Given the description of an element on the screen output the (x, y) to click on. 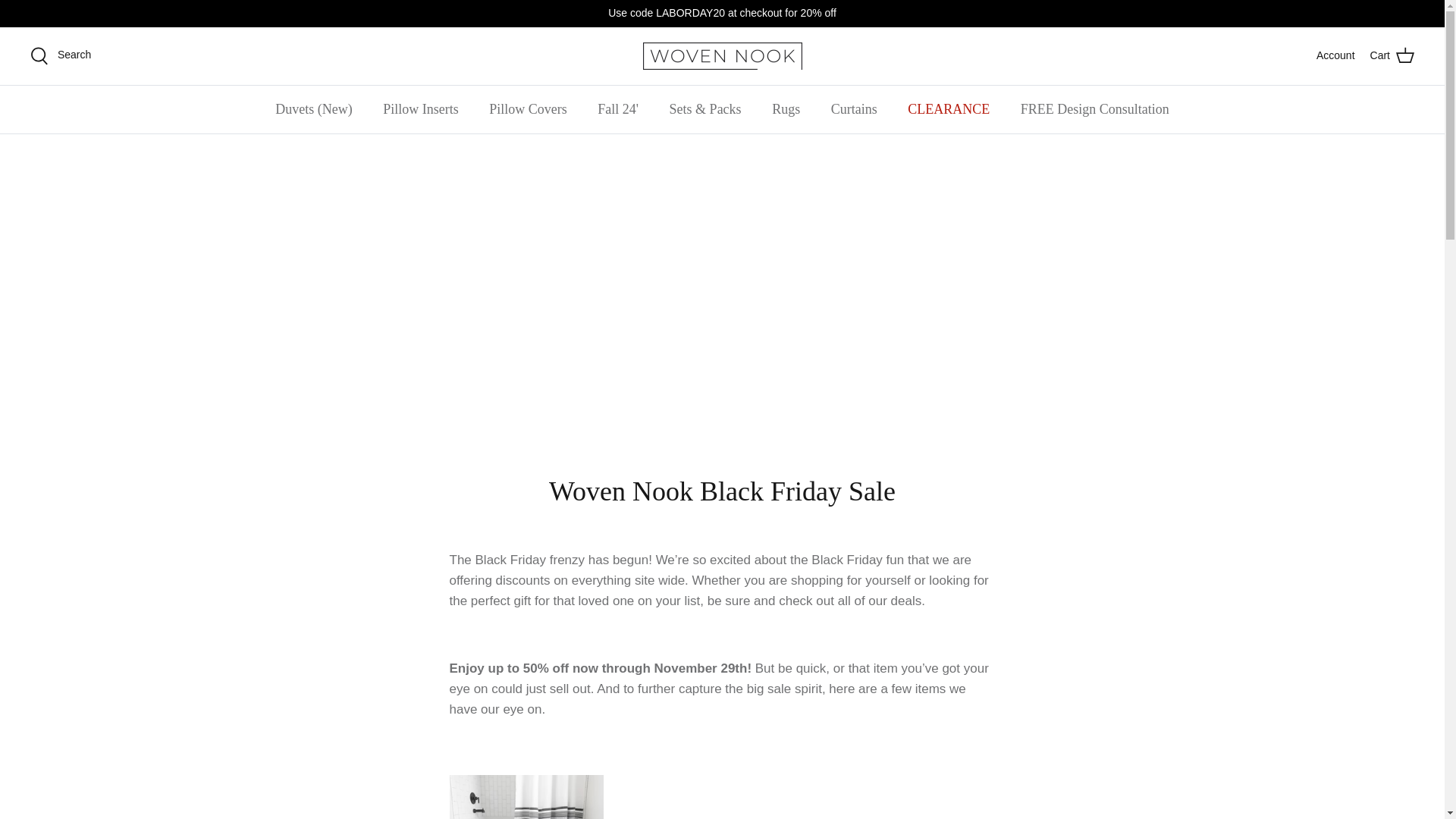
Search (60, 54)
Pillow Inserts (420, 109)
Pillow Covers (528, 109)
Cart (1391, 55)
Account (1335, 54)
Woven Nook (722, 55)
